Given the description of an element on the screen output the (x, y) to click on. 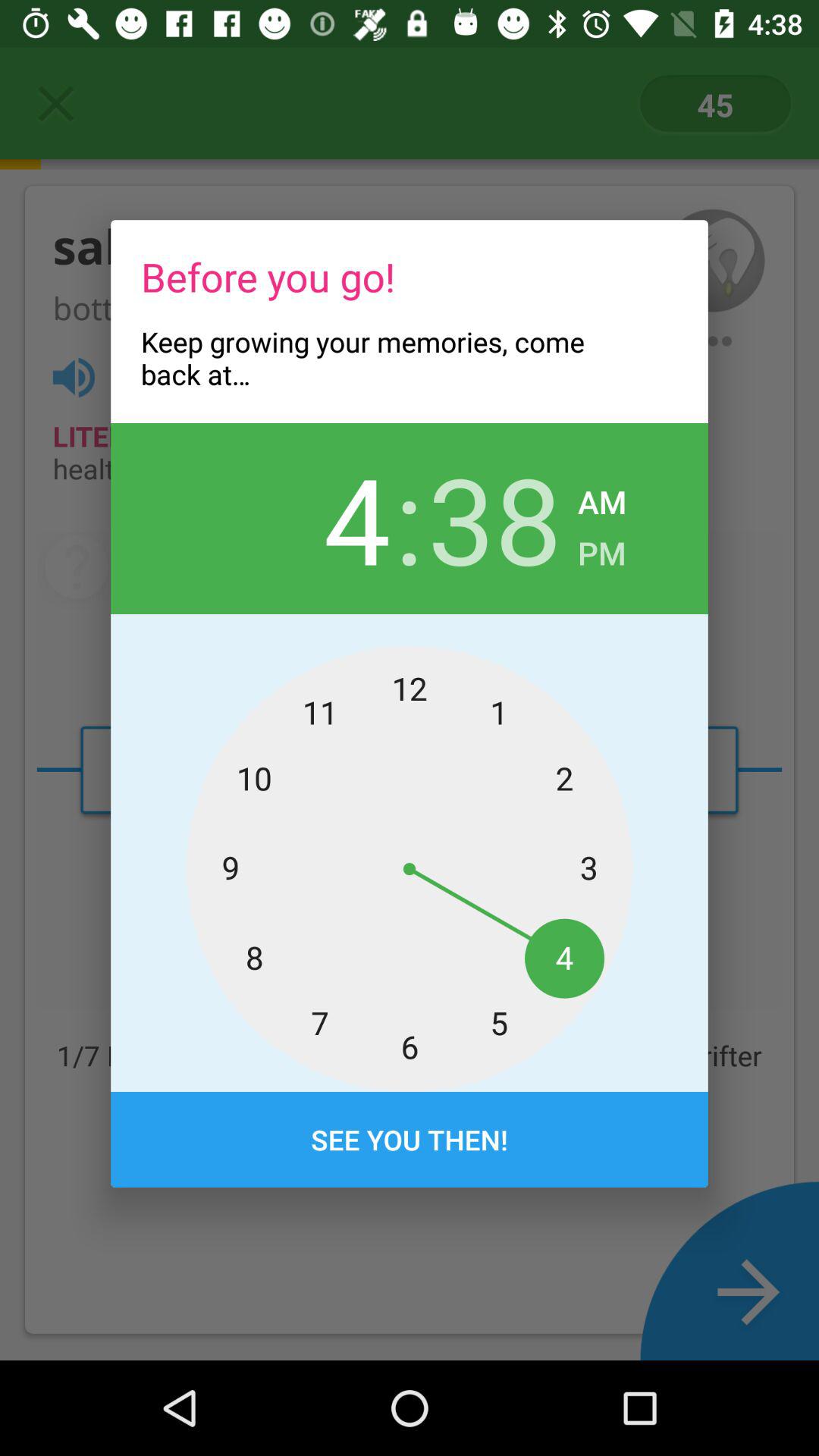
choose pm item (601, 548)
